Given the description of an element on the screen output the (x, y) to click on. 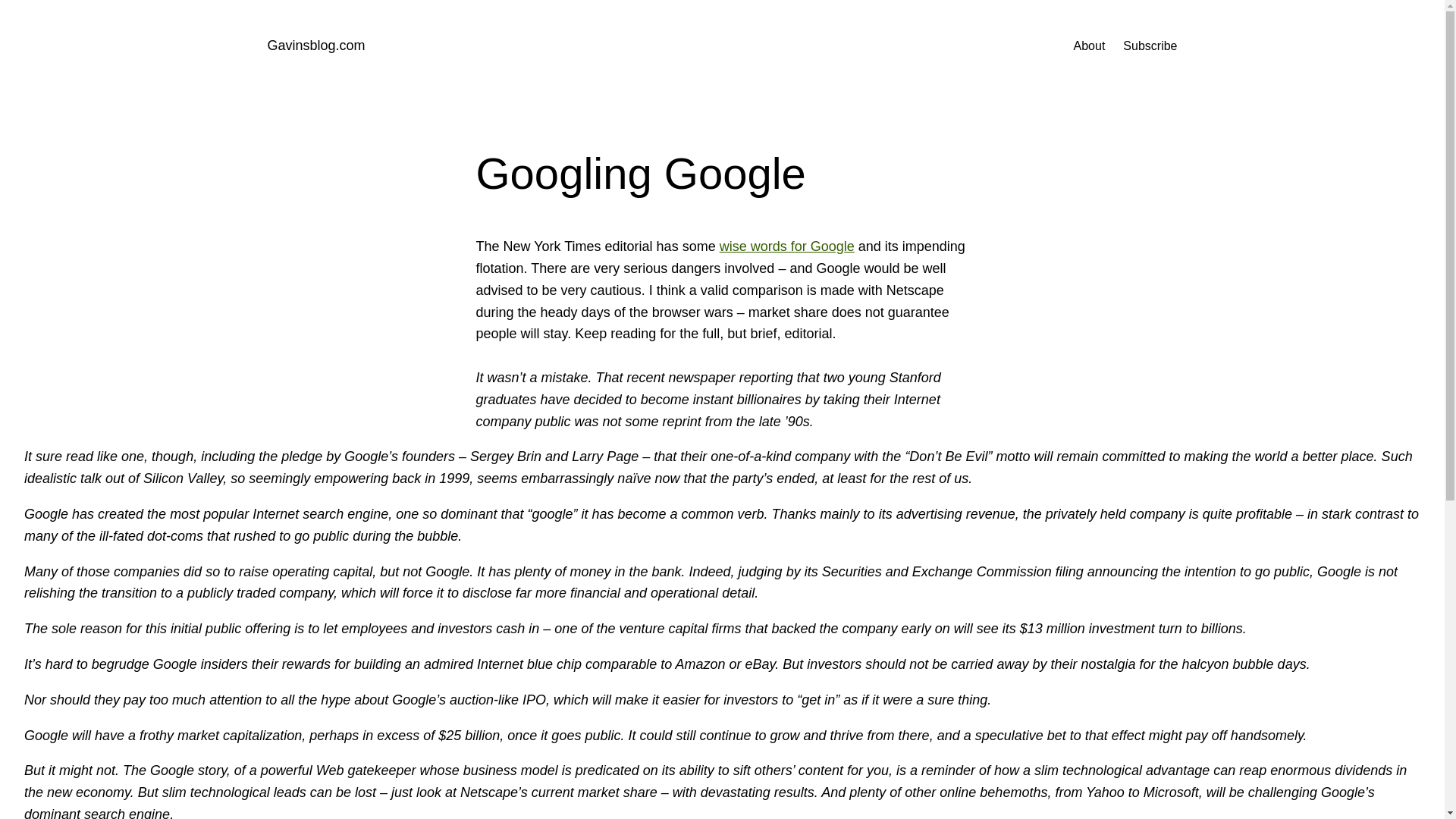
Gavinsblog.com (315, 45)
Subscribe (1149, 46)
About (1089, 46)
wise words for Google (786, 246)
